Given the description of an element on the screen output the (x, y) to click on. 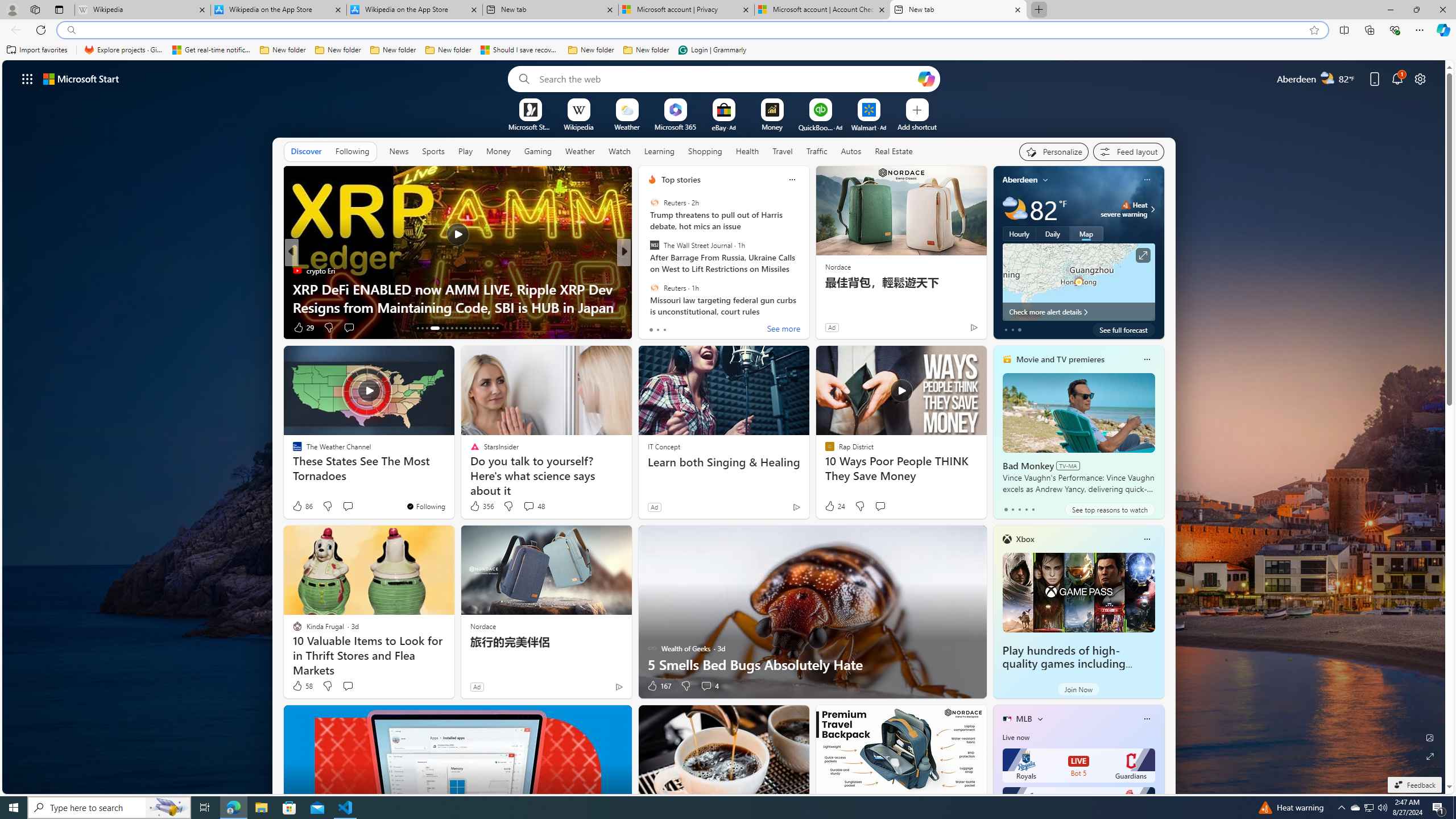
tab-3 (1025, 509)
Royals LIVE Bot 5 Guardians (1077, 765)
Sports (432, 151)
MLB (1024, 718)
News (398, 151)
Play (465, 151)
This Is How Much Gas You Should Be Keeping in Your Tank (807, 298)
View comments 5 Comment (698, 327)
See more (783, 329)
Login | Grammarly (712, 49)
Deadly Landslide In Alaska Damages Homes (807, 307)
